Given the description of an element on the screen output the (x, y) to click on. 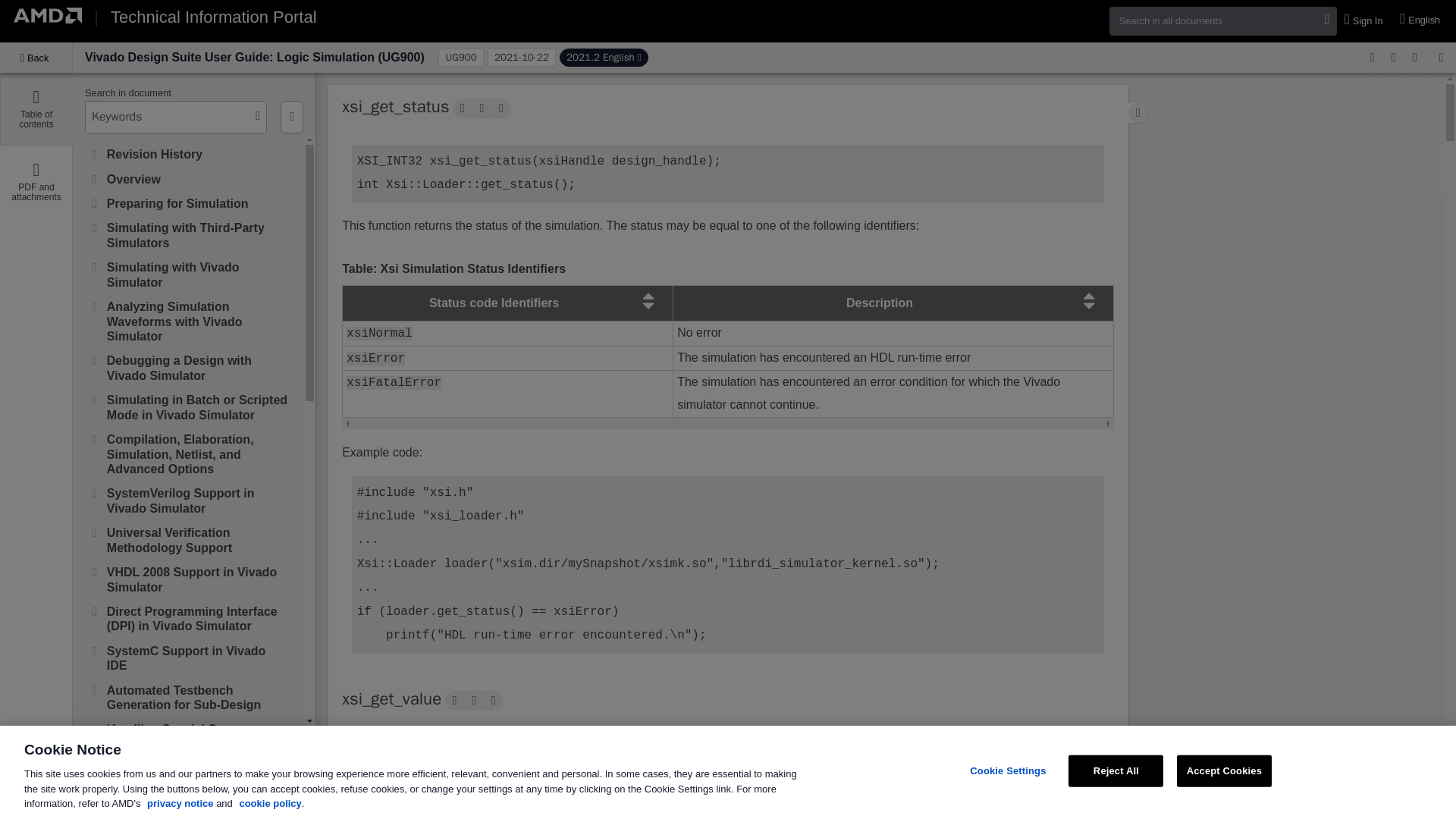
Search in all documents (1222, 20)
Back (35, 57)
AMD Inc (47, 15)
2021.2 English (603, 57)
English (1421, 20)
Technical Information Portal (212, 16)
Sign In (1365, 21)
Accept Cookies (1223, 771)
Release Date: 2021-10-22 (521, 57)
Document ID: UG900 (460, 57)
English (1421, 20)
Sign In (1365, 21)
privacy notice (179, 803)
Reject All (1115, 771)
Search in all documents (1222, 20)
